Given the description of an element on the screen output the (x, y) to click on. 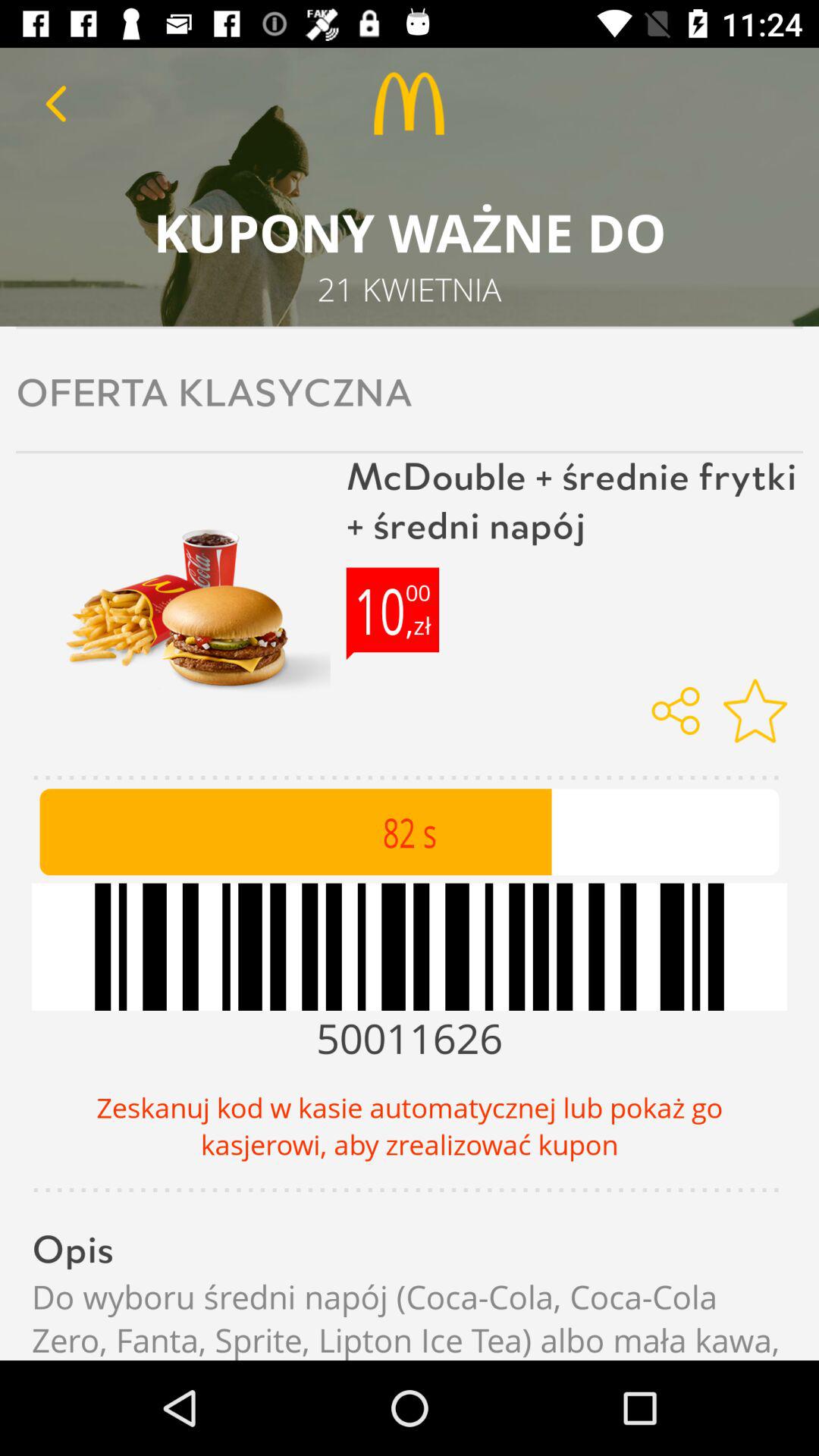
icon (755, 710)
